Given the description of an element on the screen output the (x, y) to click on. 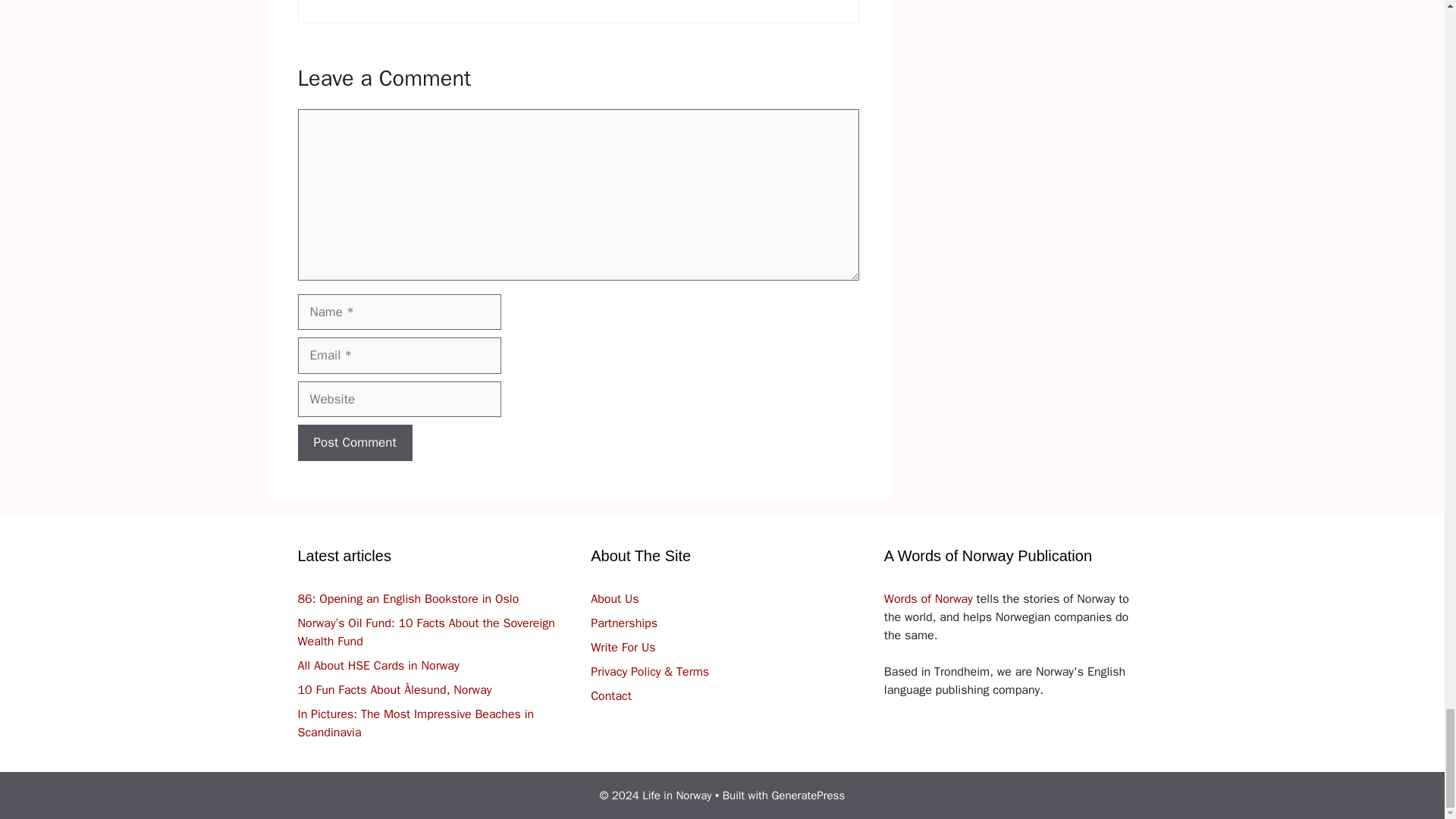
Post Comment (354, 443)
